Given the description of an element on the screen output the (x, y) to click on. 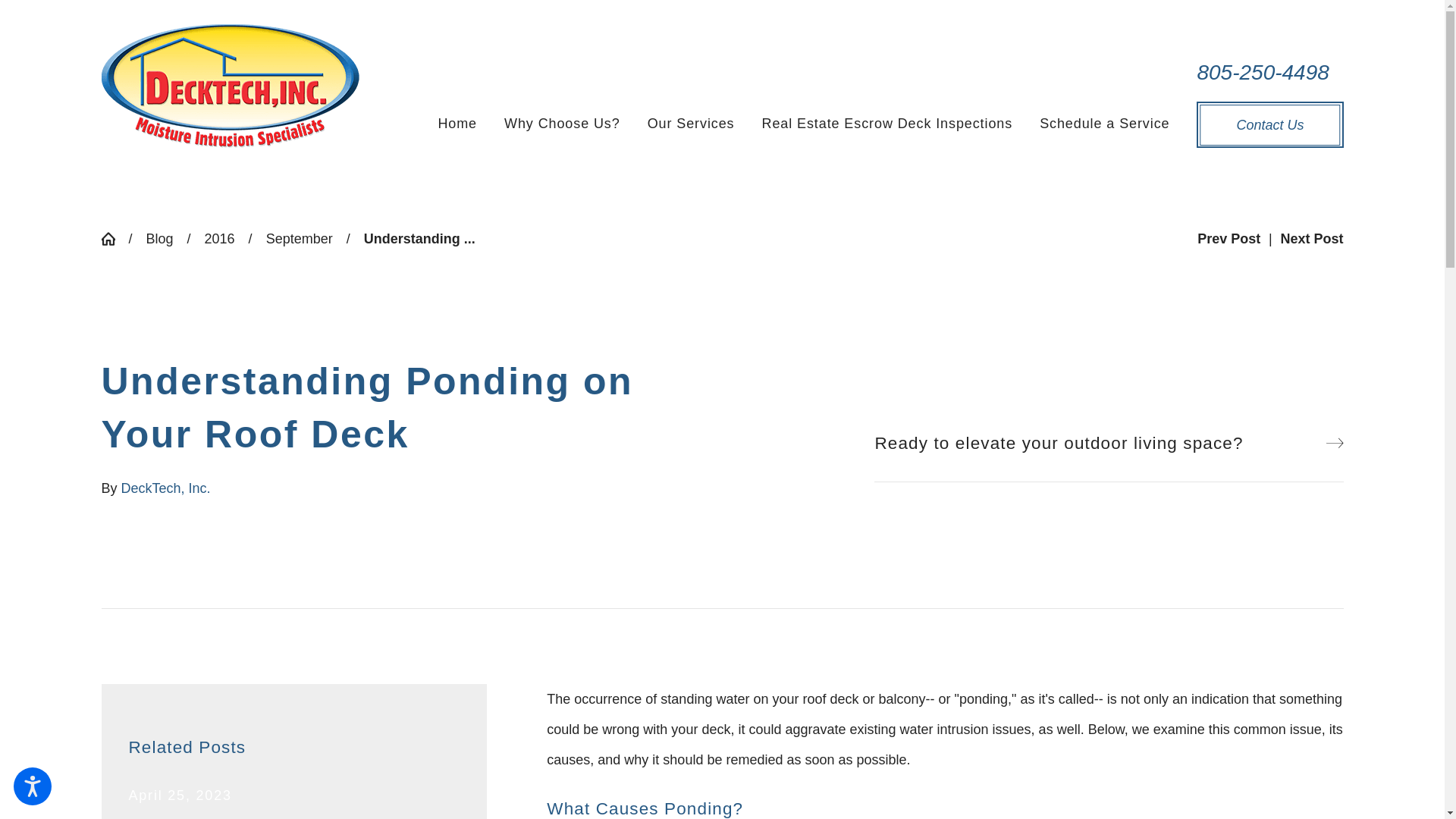
Contact Us (1269, 124)
2016 (219, 238)
Our Services (691, 123)
805-250-4498 (1269, 72)
DeckTech, Inc. (230, 86)
Ready to elevate your outdoor living space? (1108, 442)
Prev Post (1228, 238)
Next Post (1310, 238)
Schedule a Service (1104, 123)
Go Home (115, 238)
